Given the description of an element on the screen output the (x, y) to click on. 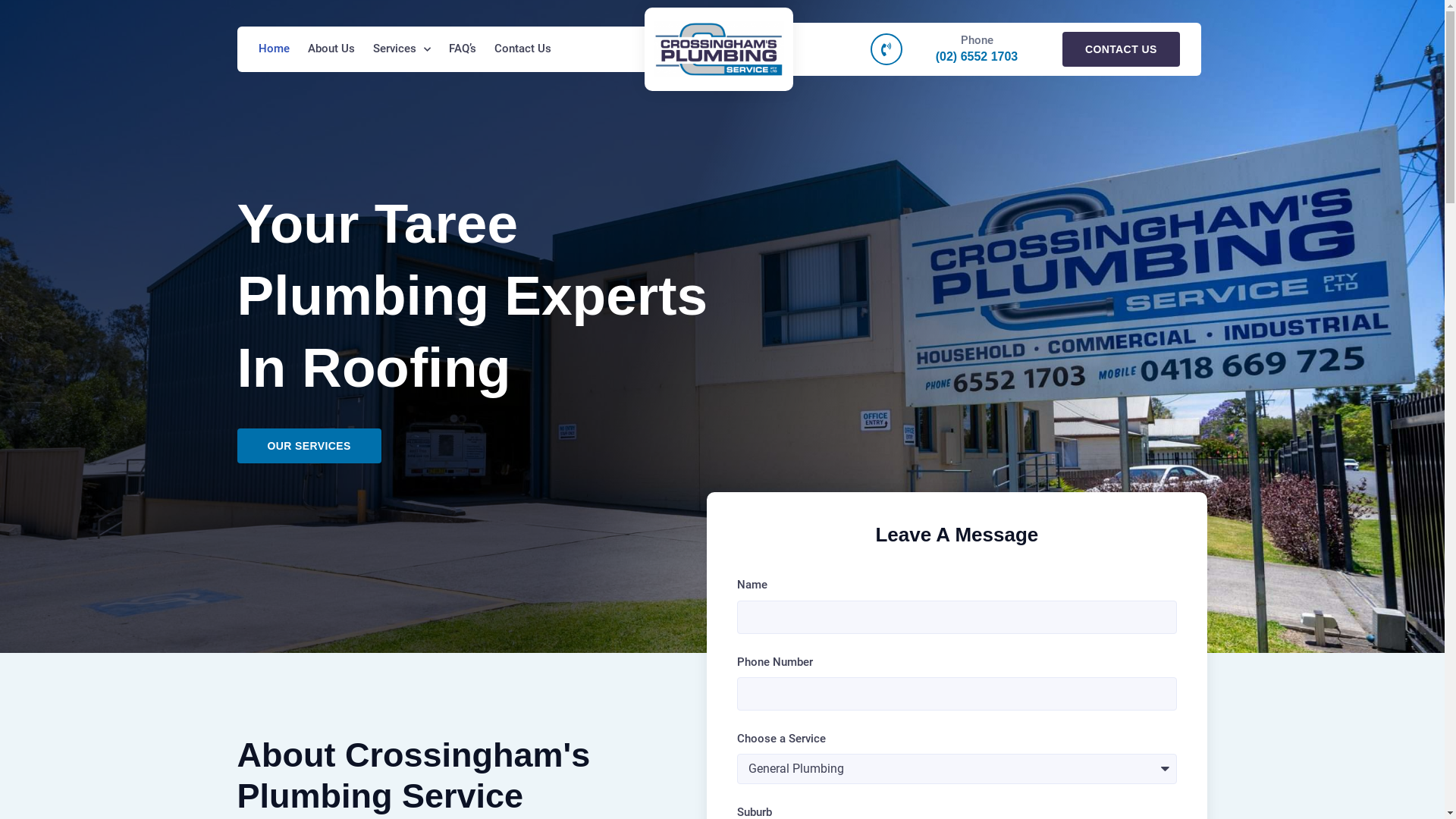
Home Element type: text (272, 48)
OUR SERVICES Element type: text (308, 445)
Services Element type: text (401, 48)
Contact Us Element type: text (522, 48)
About Us Element type: text (330, 48)
CONTACT US Element type: text (1120, 48)
Phone Element type: text (976, 40)
